Given the description of an element on the screen output the (x, y) to click on. 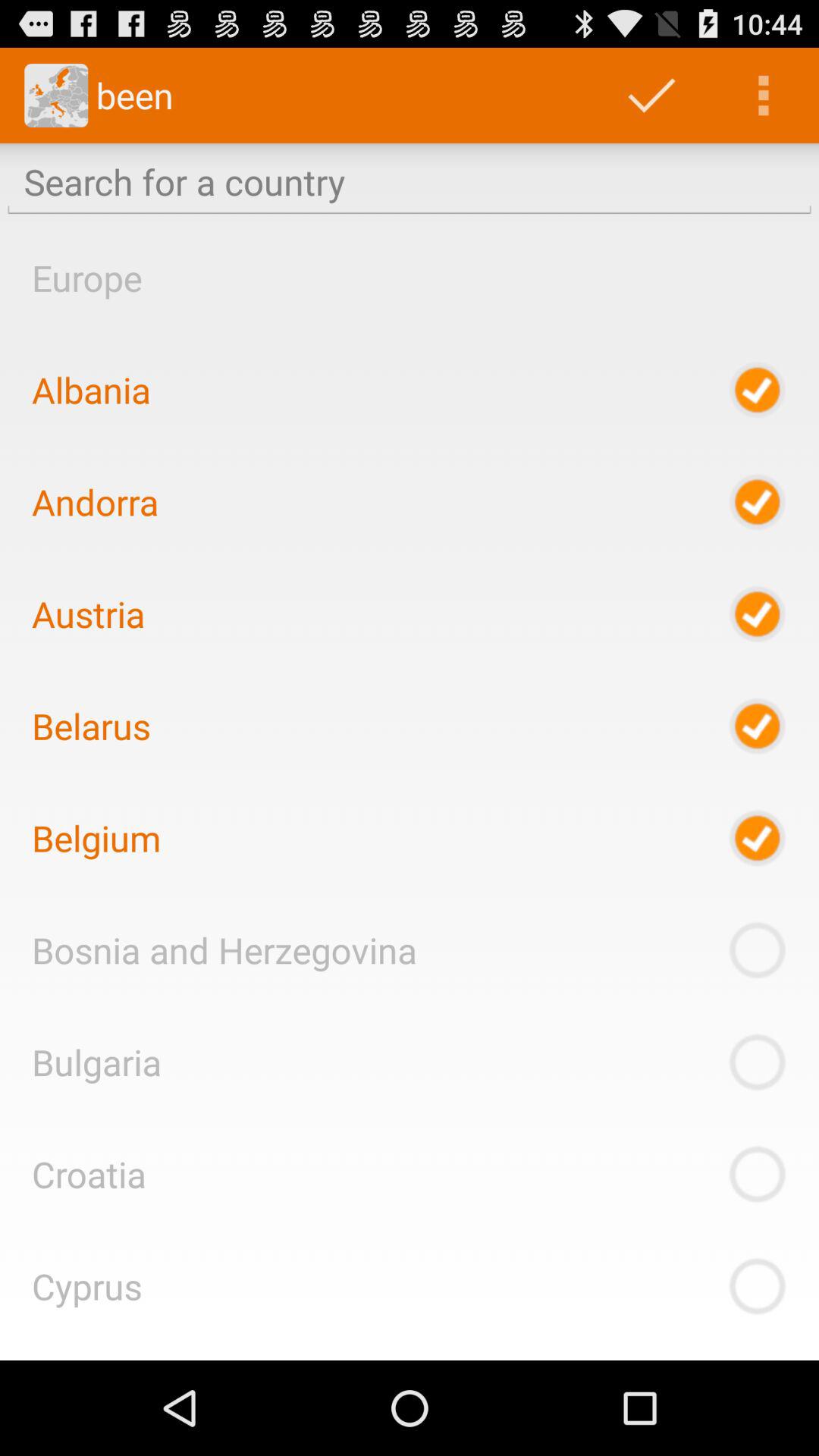
turn on icon below bulgaria app (88, 1174)
